Given the description of an element on the screen output the (x, y) to click on. 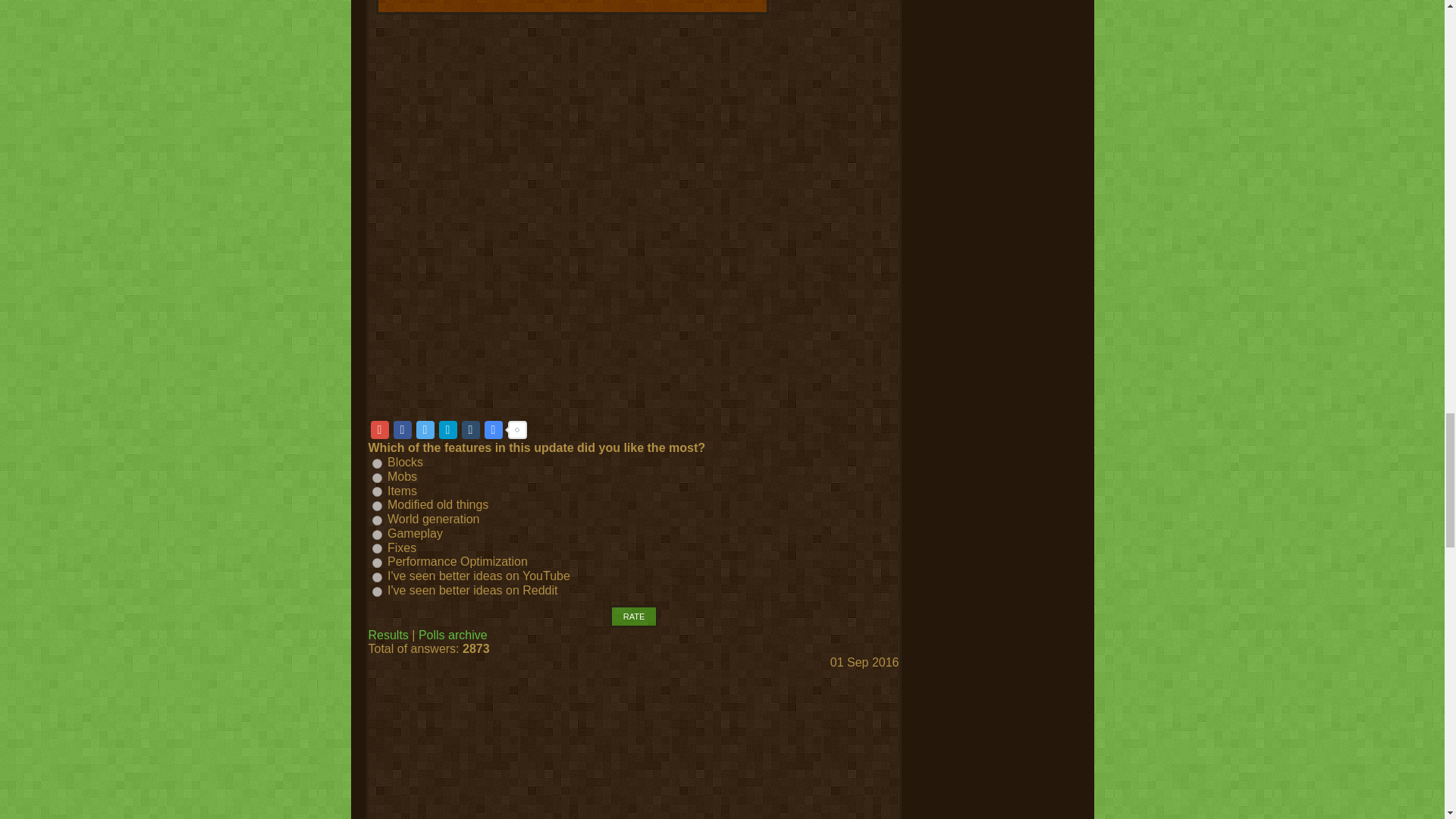
9 (376, 577)
10 (376, 592)
3 (376, 491)
8 (376, 562)
2 (376, 478)
Rate (634, 616)
4 (376, 506)
6 (376, 534)
1 (376, 463)
5 (376, 520)
7 (376, 548)
